Given the description of an element on the screen output the (x, y) to click on. 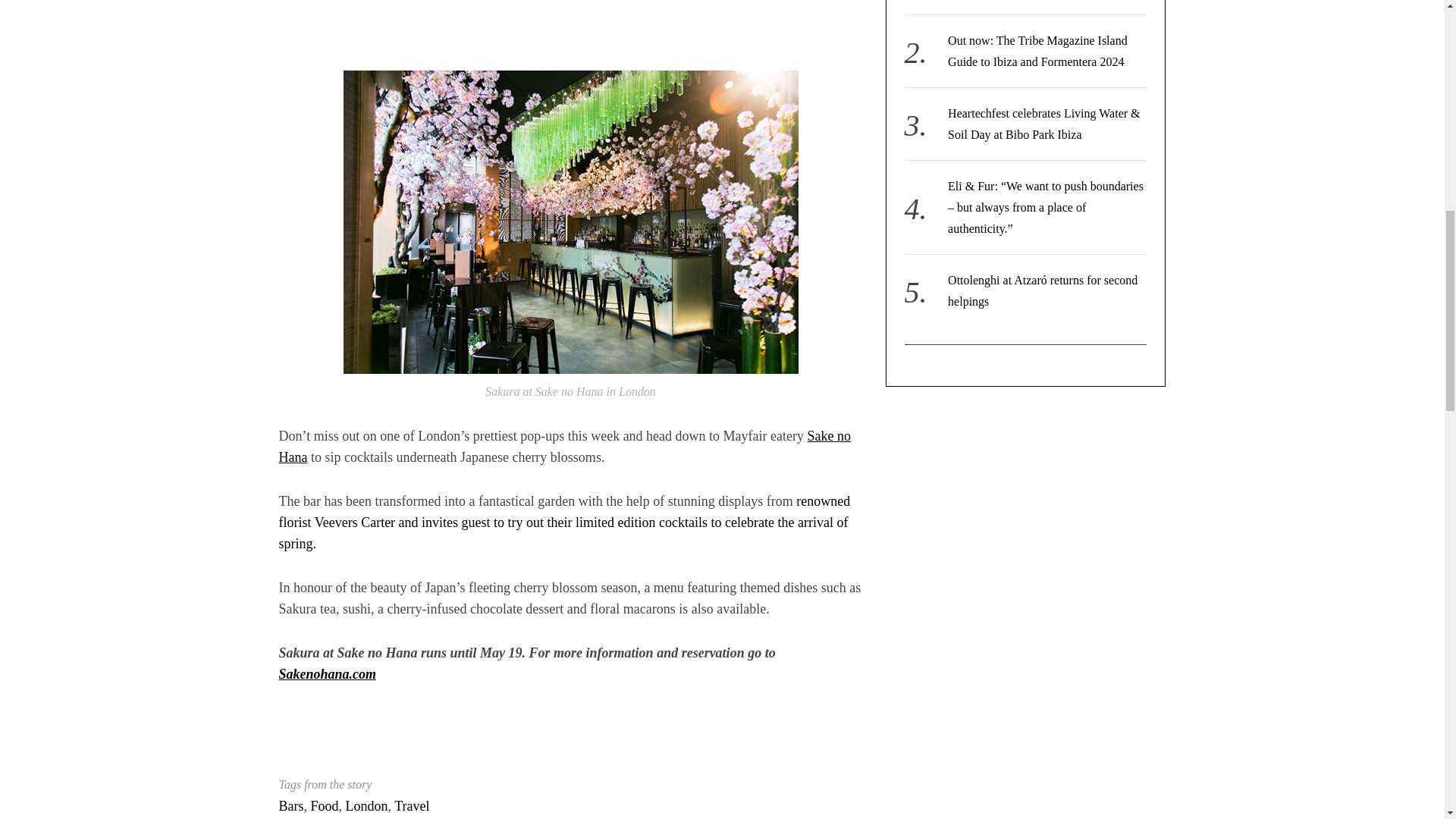
Sakenohana.com (328, 673)
Sake no Hana (565, 446)
London (367, 806)
Travel (411, 806)
Bars (291, 806)
Food (325, 806)
